Given the description of an element on the screen output the (x, y) to click on. 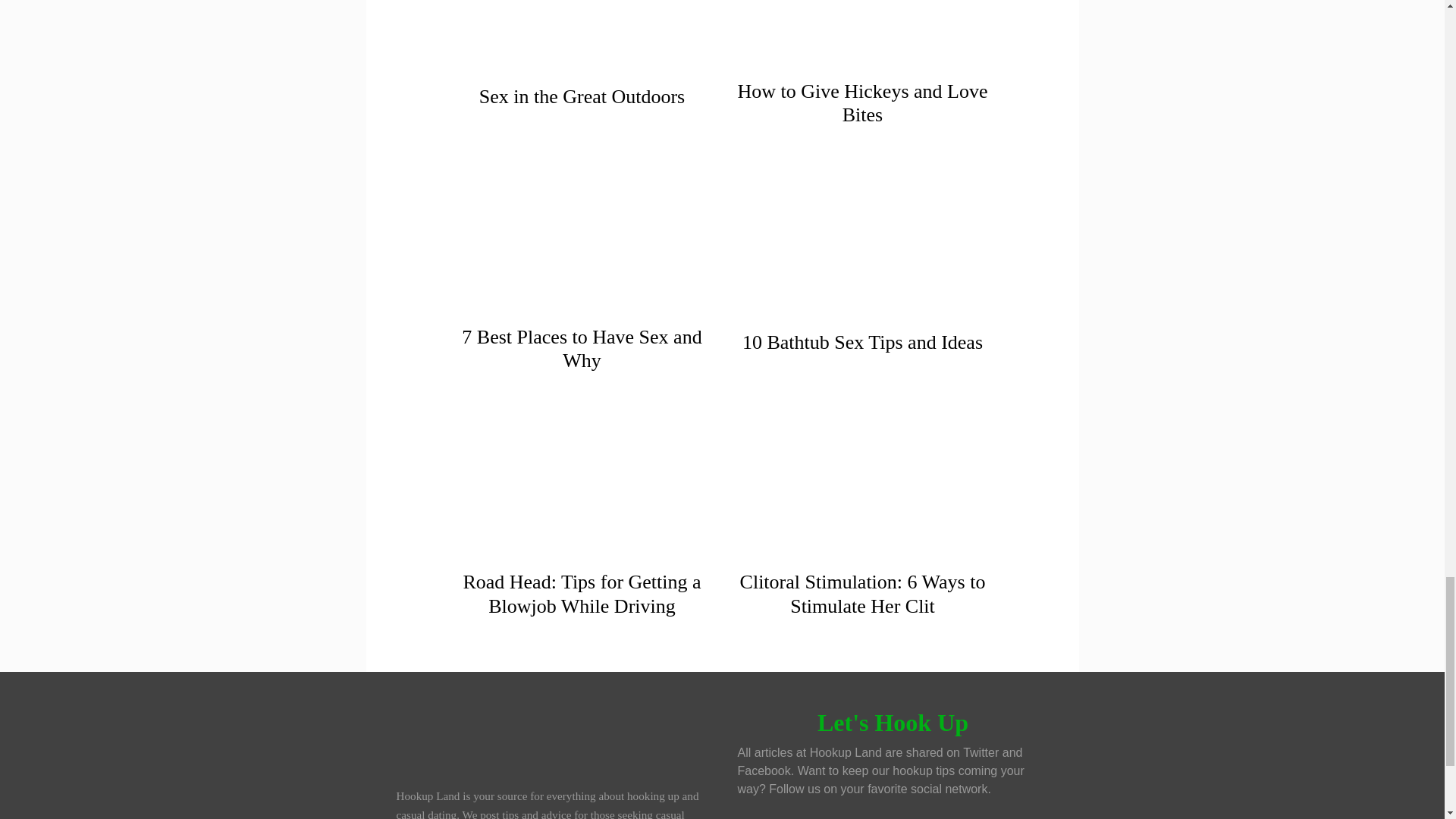
Sex in the Great Outdoors (581, 58)
How to Give Hickeys and Love Bites (861, 102)
How to Give Hickeys and Love Bites (861, 58)
10 Bathtub Sex Tips and Ideas (862, 341)
Sex in the Great Outdoors (582, 96)
7 Best Places to Have Sex and Why (581, 348)
